Given the description of an element on the screen output the (x, y) to click on. 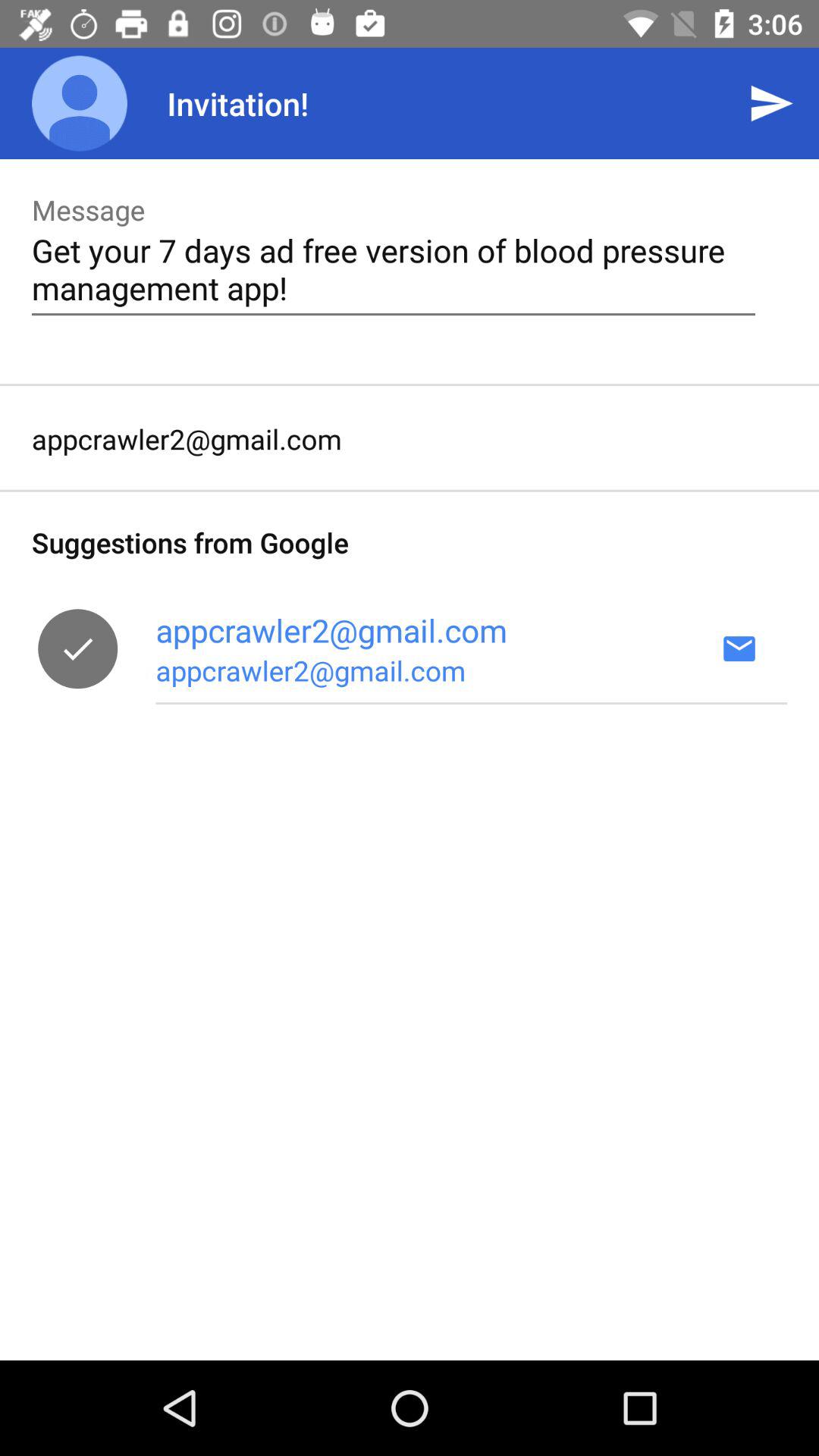
select icon below the message item (393, 268)
